Given the description of an element on the screen output the (x, y) to click on. 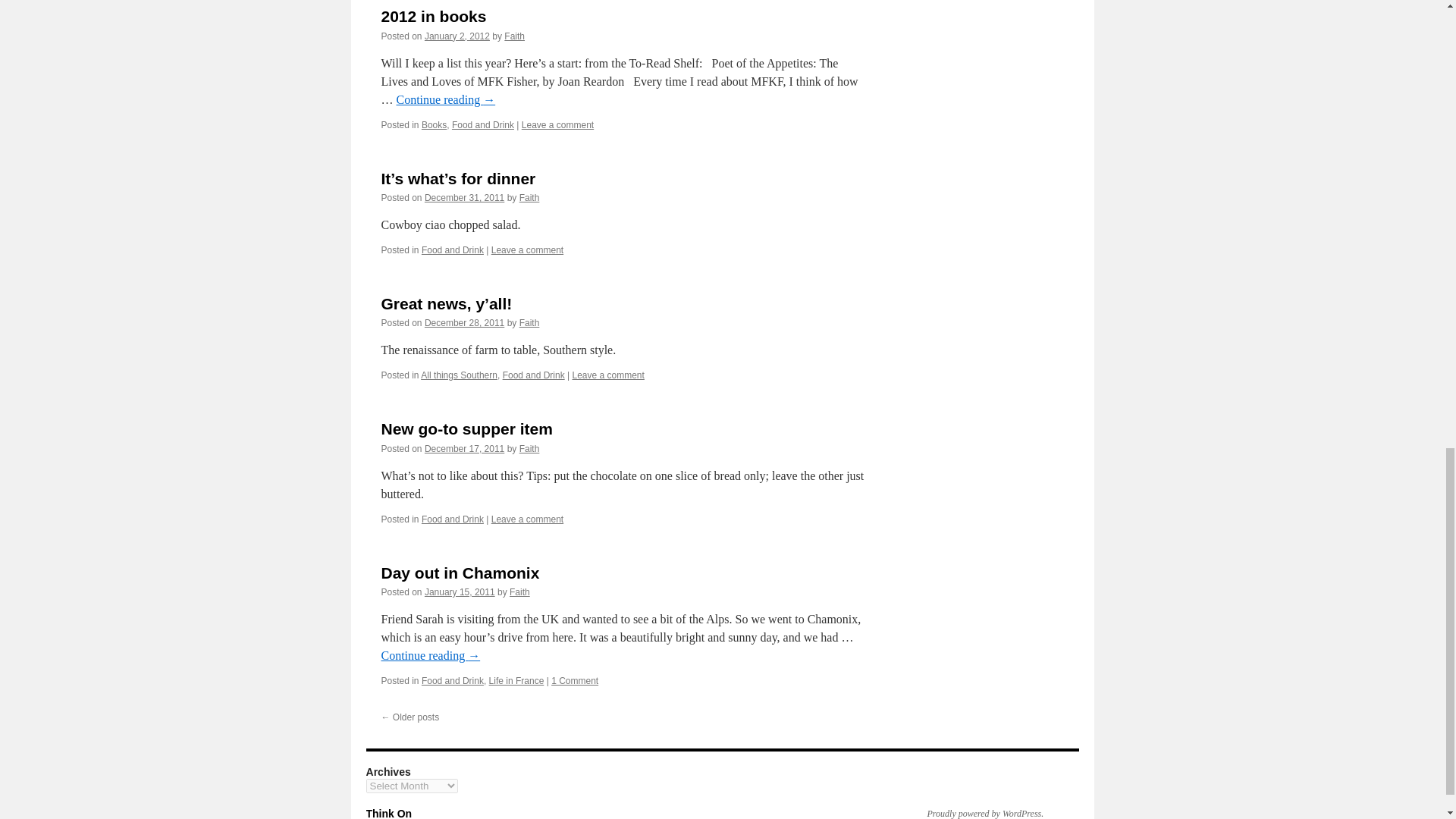
View all posts by Faith (513, 36)
9:53 pm (457, 36)
12:49 am (464, 197)
